Given the description of an element on the screen output the (x, y) to click on. 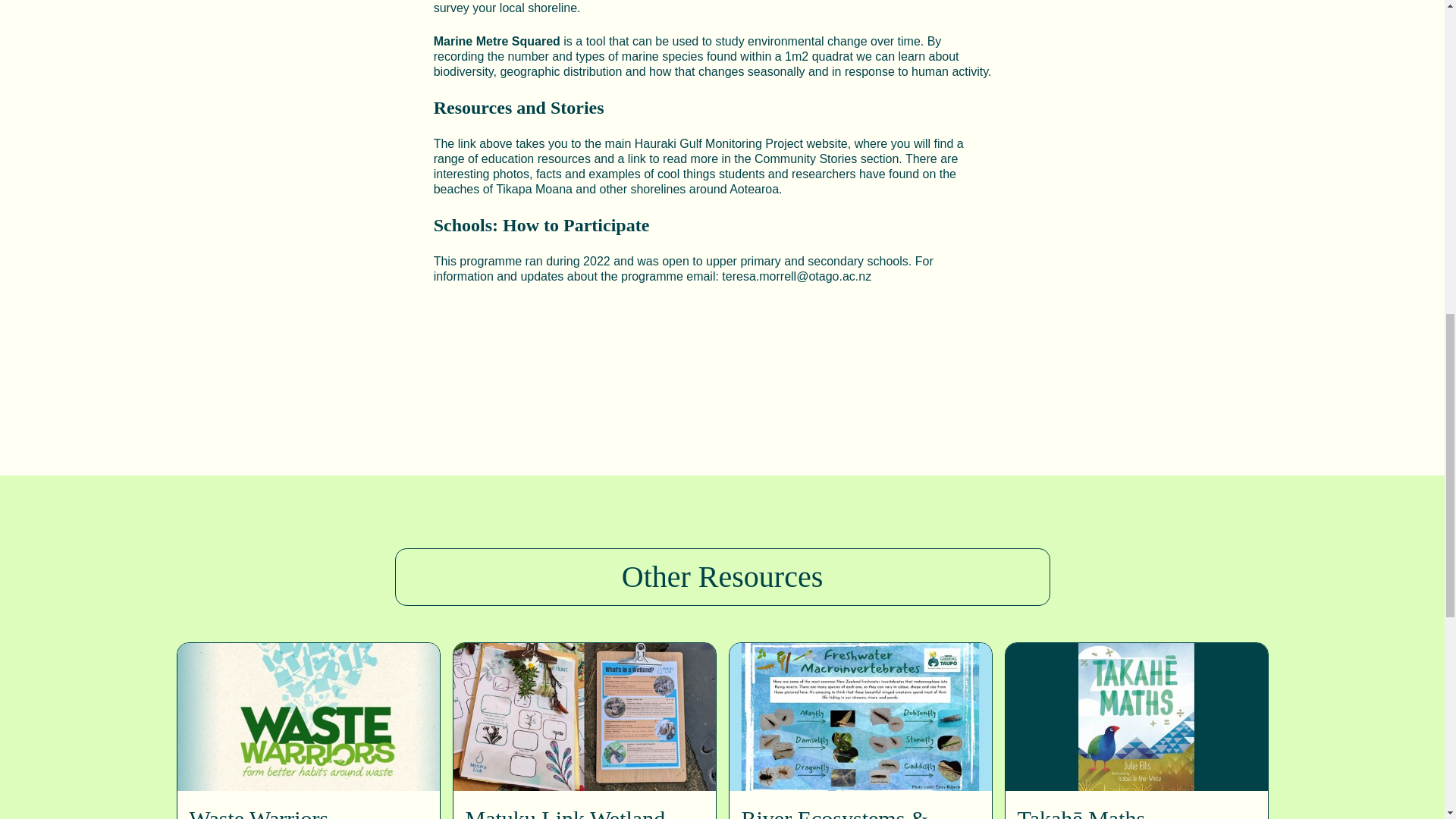
Matuku Link Wetland Resources (584, 812)
Marine Metre Squared (496, 41)
Waste Warriors (259, 812)
